Given the description of an element on the screen output the (x, y) to click on. 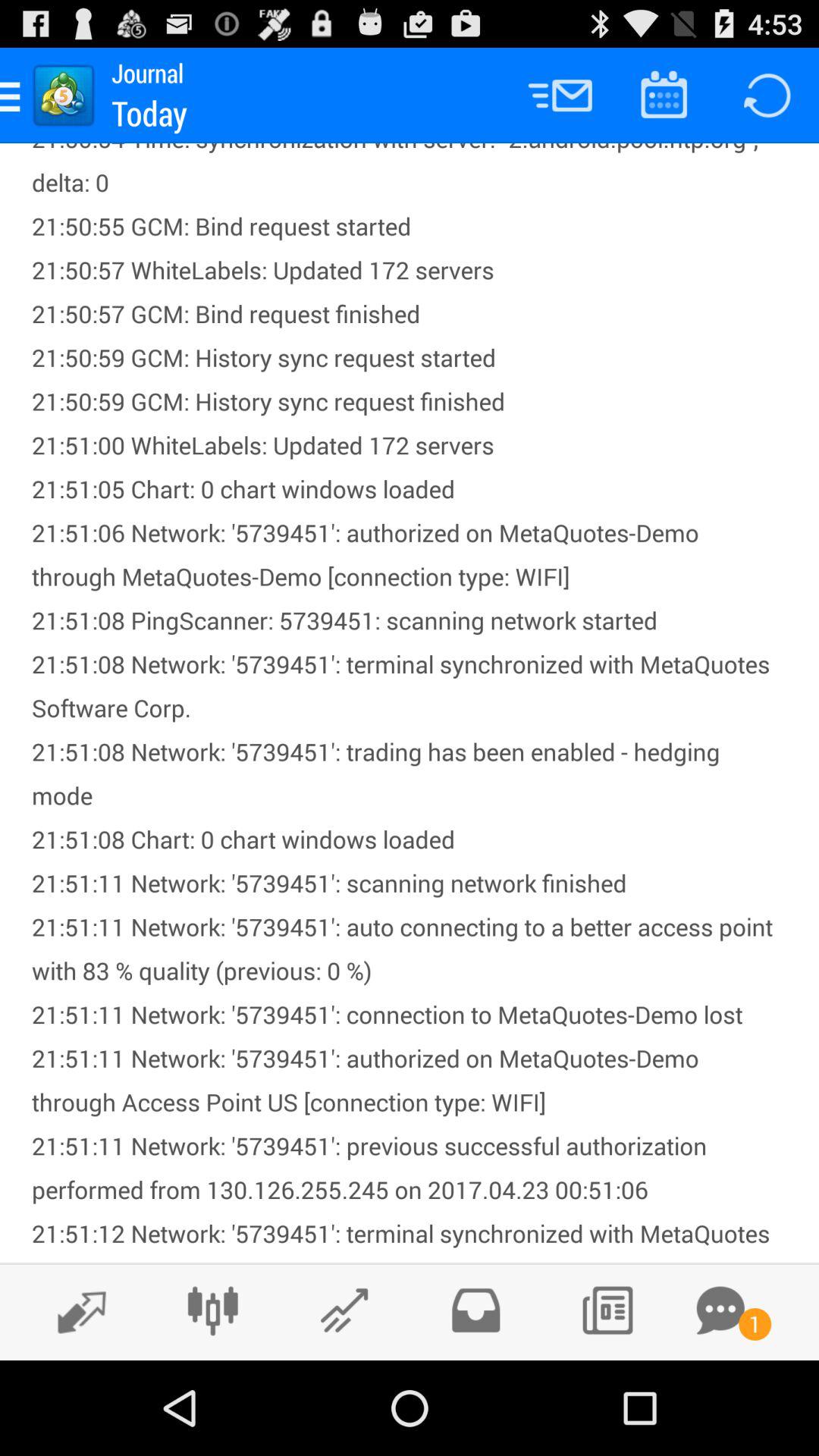
turn off the item at the center (409, 702)
